Given the description of an element on the screen output the (x, y) to click on. 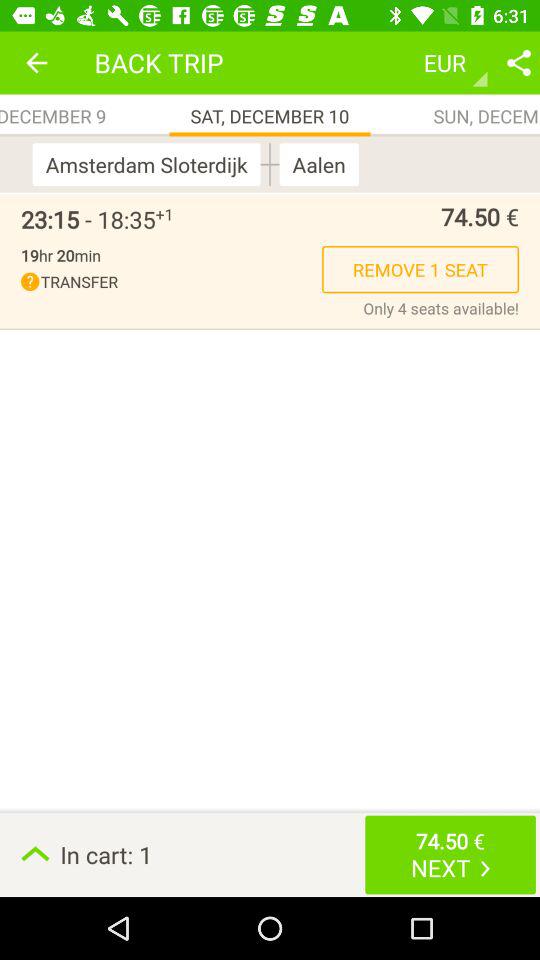
launch the item to the left of the remove 1 seat item (60, 255)
